Given the description of an element on the screen output the (x, y) to click on. 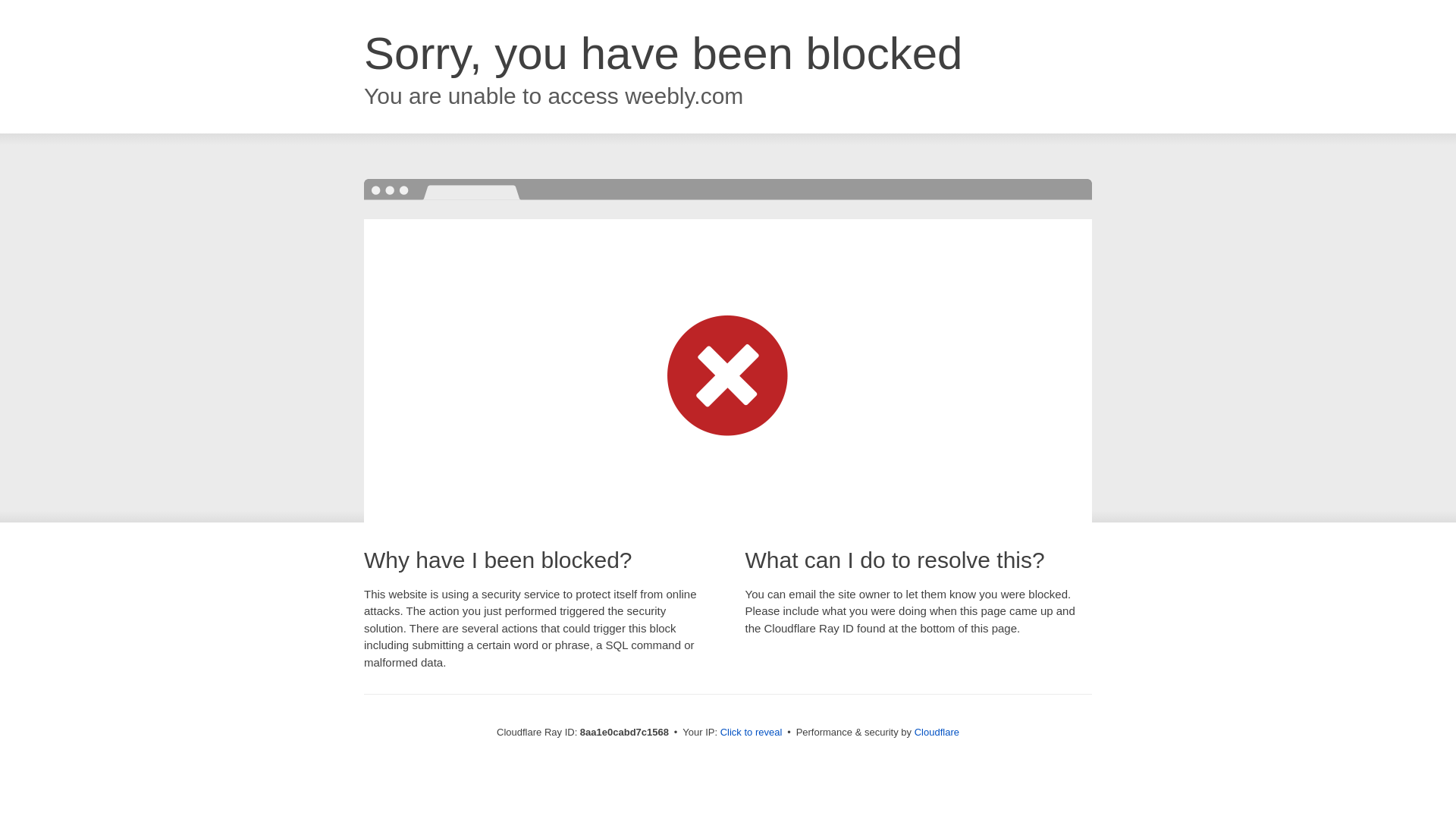
Click to reveal (751, 732)
Cloudflare (936, 731)
